Given the description of an element on the screen output the (x, y) to click on. 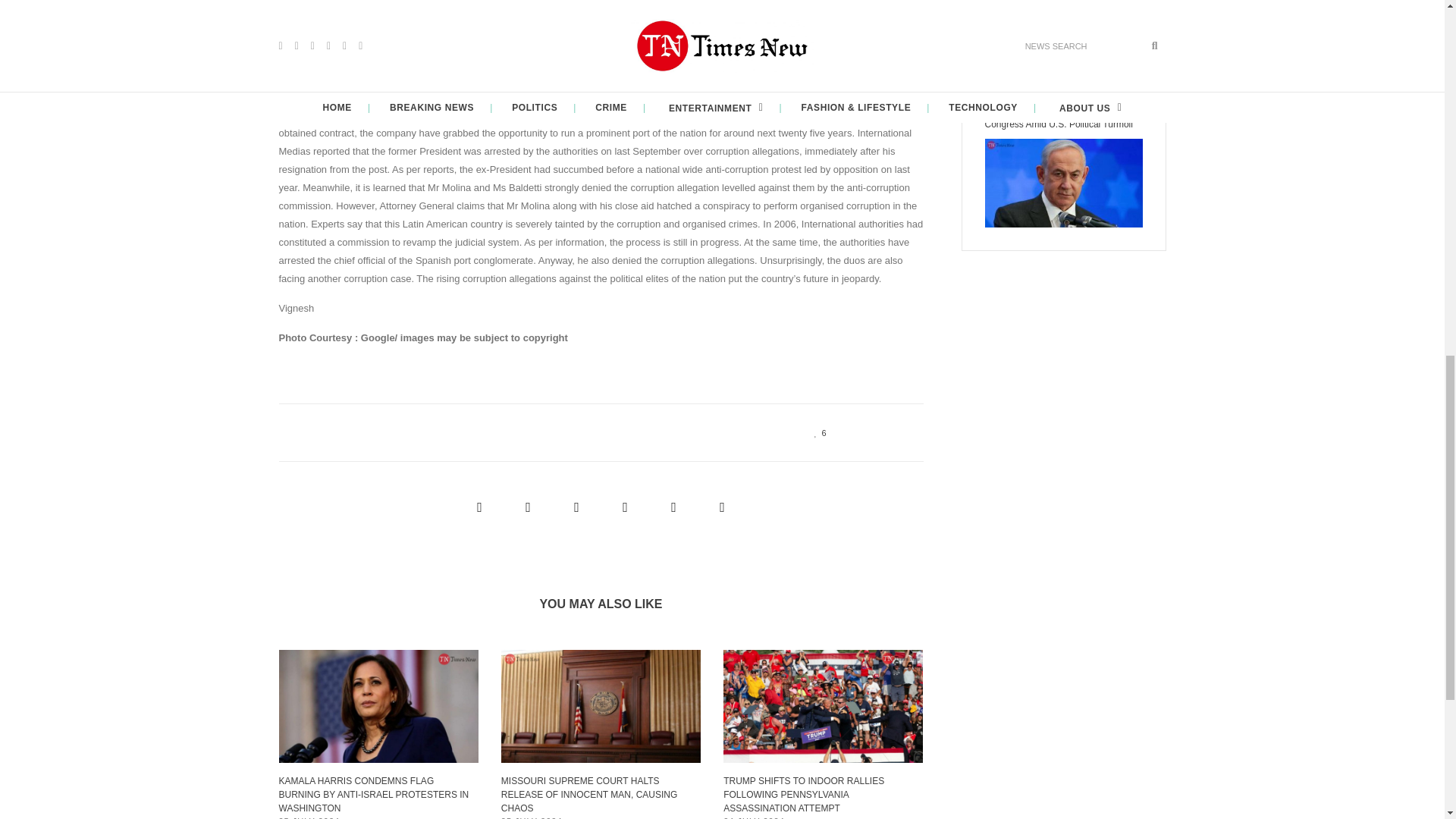
Like (816, 431)
6 (816, 431)
